Given the description of an element on the screen output the (x, y) to click on. 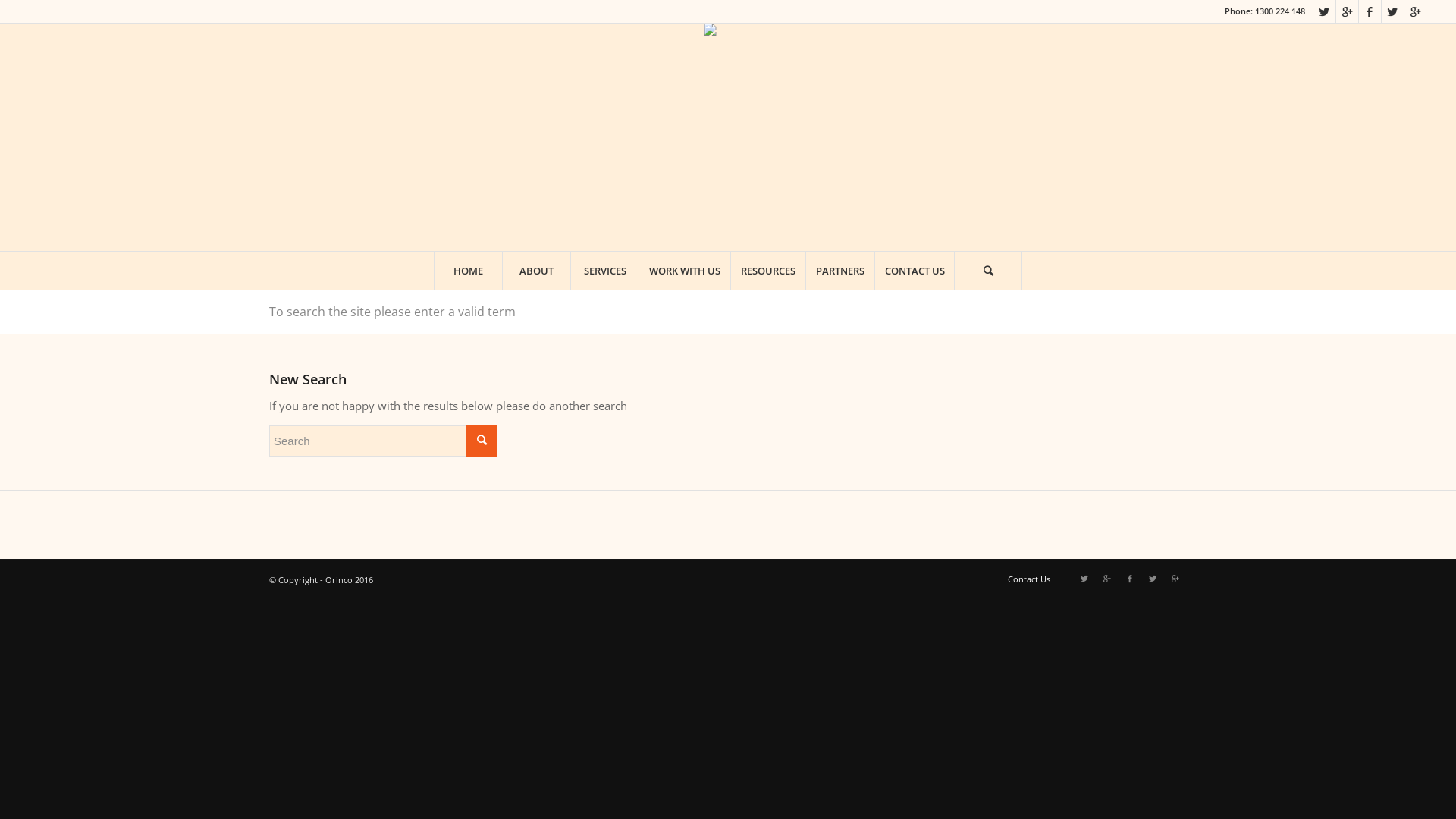
Twitter Element type: hover (1324, 11)
Gplus Element type: hover (1347, 11)
WORK WITH US Element type: text (684, 270)
Twitter Element type: hover (1392, 11)
Contact Us Element type: text (1028, 578)
CONTACT US Element type: text (914, 270)
Facebook Element type: hover (1129, 578)
Gplus Element type: hover (1175, 578)
ABOUT Element type: text (536, 270)
Twitter Element type: hover (1084, 578)
Facebook Element type: hover (1369, 11)
PARTNERS Element type: text (839, 270)
SERVICES Element type: text (604, 270)
Gplus Element type: hover (1415, 11)
HOME Element type: text (467, 270)
RESOURCES Element type: text (767, 270)
Gplus Element type: hover (1106, 578)
Twitter Element type: hover (1152, 578)
